Given the description of an element on the screen output the (x, y) to click on. 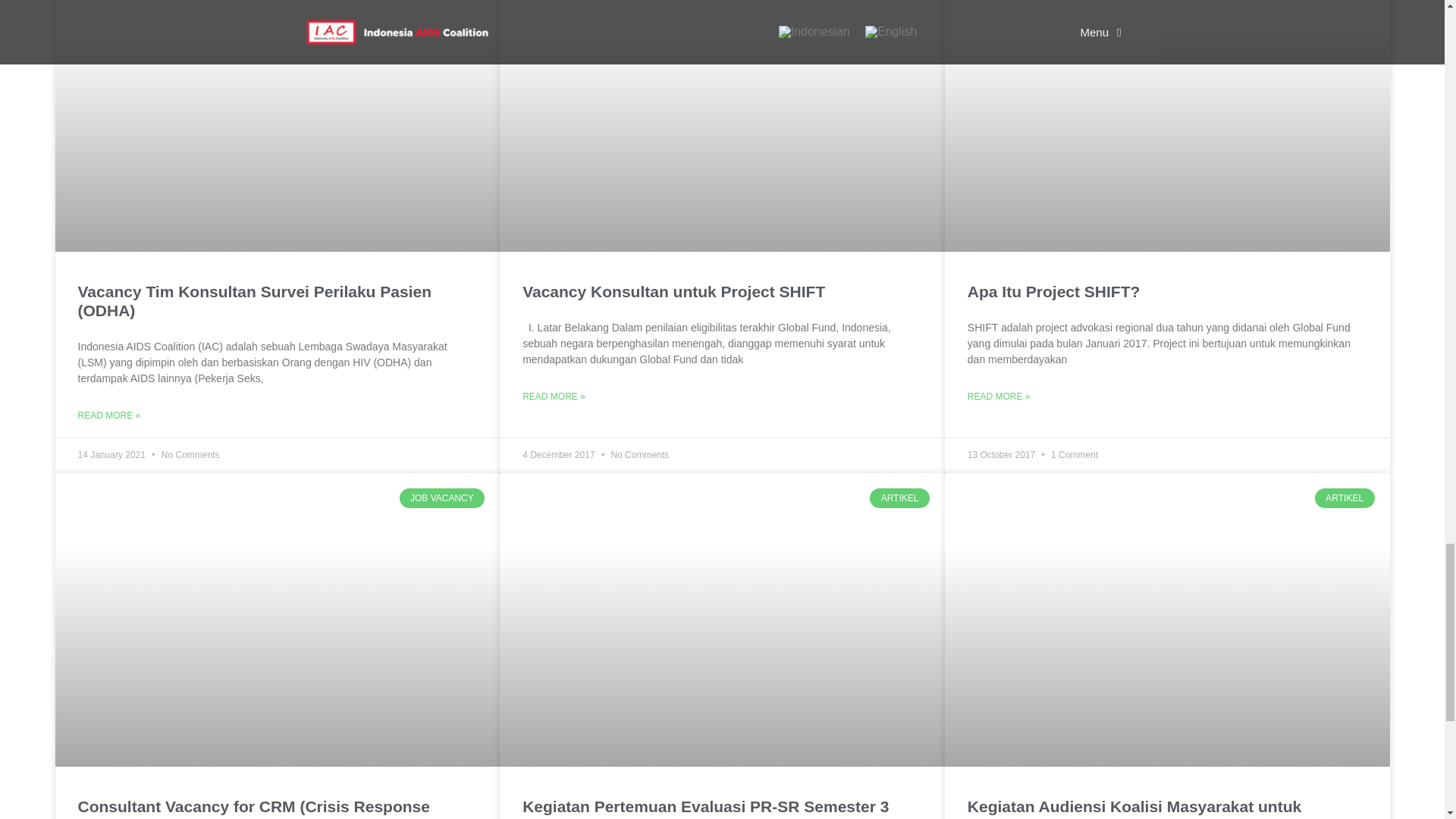
Apa Itu Project SHIFT? (1054, 291)
Kegiatan Pertemuan Evaluasi PR-SR Semester 3 (705, 805)
Vacancy Konsultan untuk Project SHIFT (673, 291)
